Given the description of an element on the screen output the (x, y) to click on. 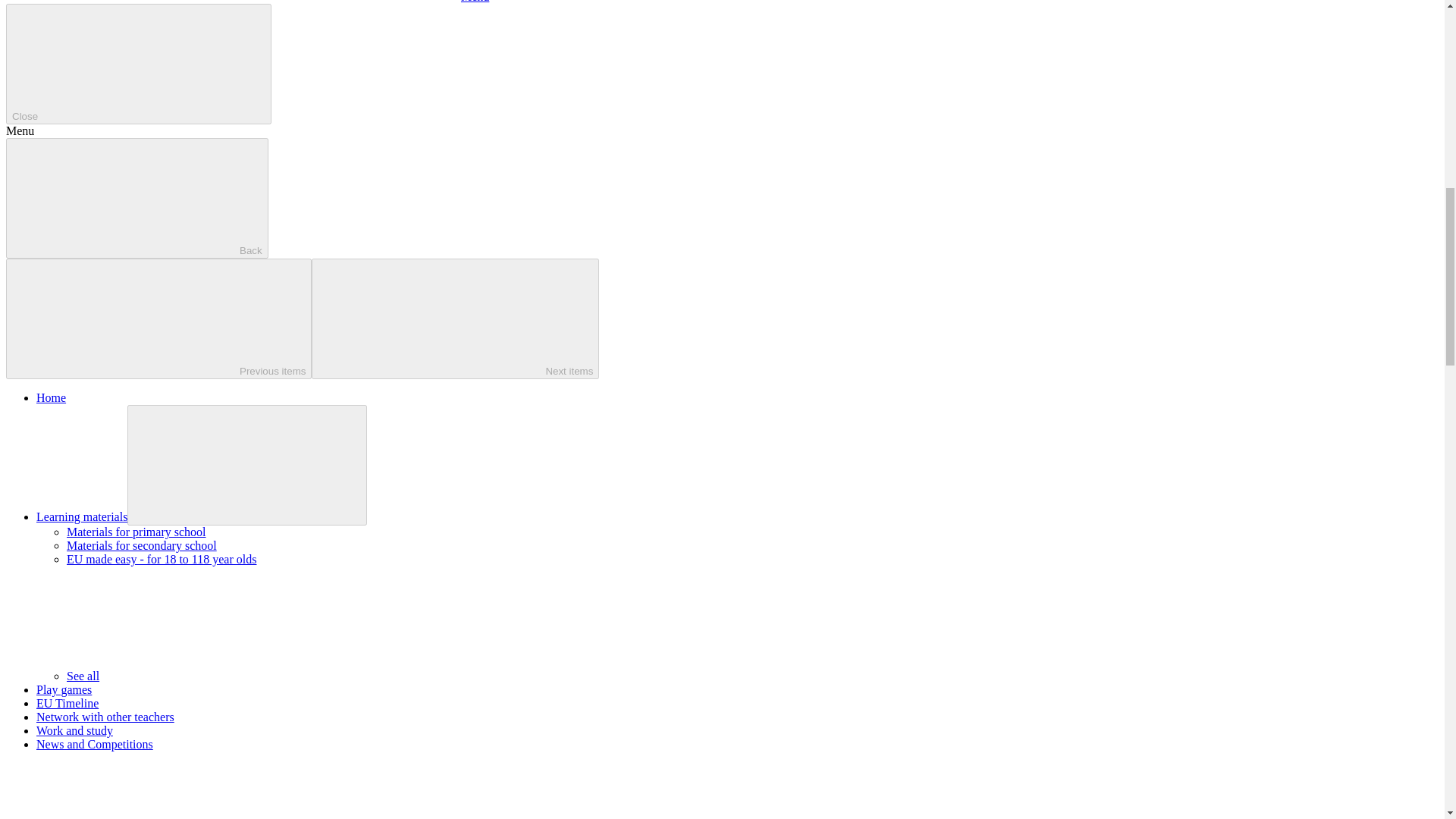
News and Competitions (94, 744)
Next items (454, 318)
Network with other teachers (105, 716)
EU Timeline (67, 703)
Previous items (158, 318)
Close (137, 64)
Back (136, 198)
EU made easy - for 18 to 118 year olds (161, 558)
See all (196, 675)
Materials for secondary school (141, 545)
Materials for primary school (136, 531)
Play games (63, 689)
Work and study (74, 730)
Home (50, 397)
